Given the description of an element on the screen output the (x, y) to click on. 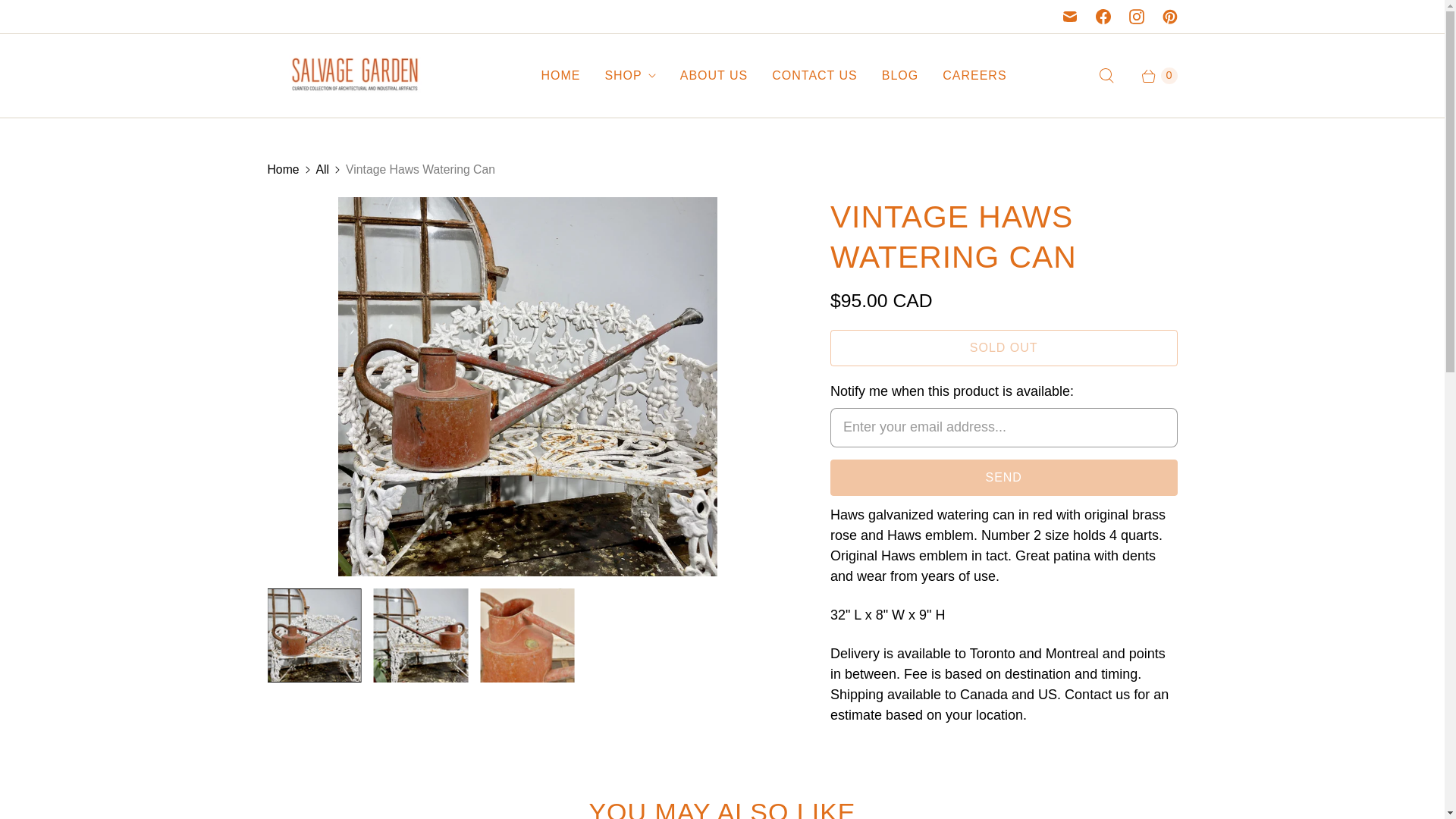
ABOUT US (714, 75)
Send (1003, 477)
HOME (560, 75)
CAREERS (973, 75)
BLOG (899, 75)
CONTACT US (814, 75)
0 (1151, 75)
